Given the description of an element on the screen output the (x, y) to click on. 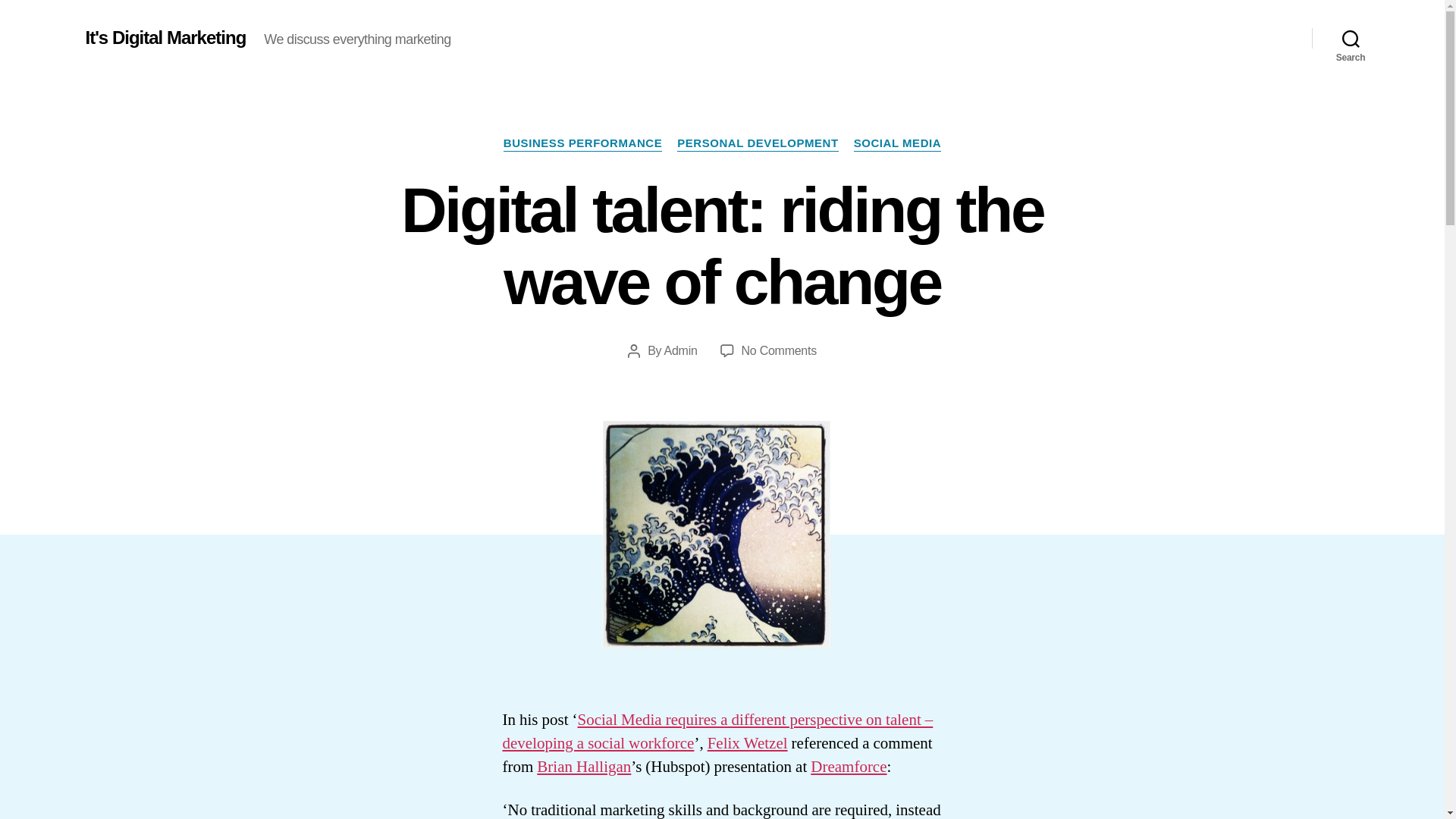
PERSONAL DEVELOPMENT (778, 350)
It's Digital Marketing (757, 143)
BUSINESS PERFORMANCE (165, 37)
Admin (582, 143)
Search (680, 350)
Dreamforce (1350, 37)
SOCIAL MEDIA (848, 766)
Brian Halligan (897, 143)
Felix Wetzel (583, 766)
